Given the description of an element on the screen output the (x, y) to click on. 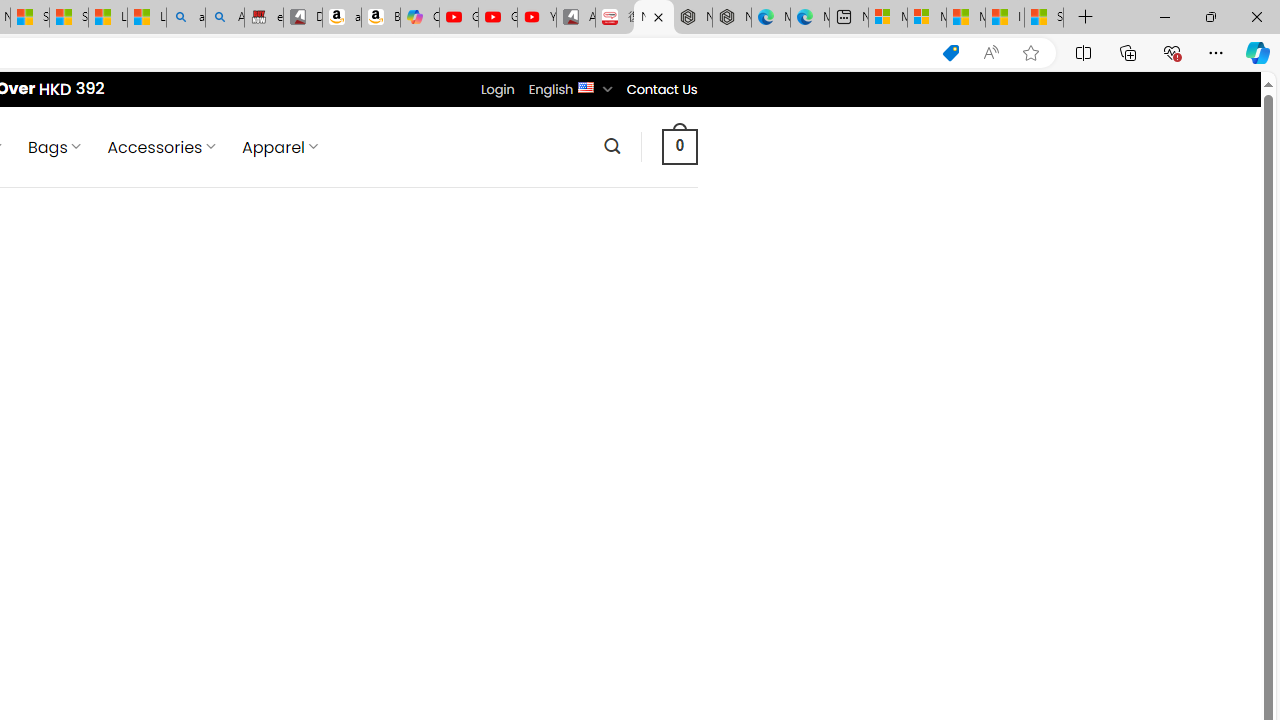
Close (1256, 16)
Nordace - Contact Us (653, 17)
Microsoft account | Privacy (926, 17)
Microsoft Start (966, 17)
amazon - Search (185, 17)
Collections (1128, 52)
Login (497, 89)
Read aloud this page (Ctrl+Shift+U) (991, 53)
I Gained 20 Pounds of Muscle in 30 Days! | Watch (1004, 17)
